Given the description of an element on the screen output the (x, y) to click on. 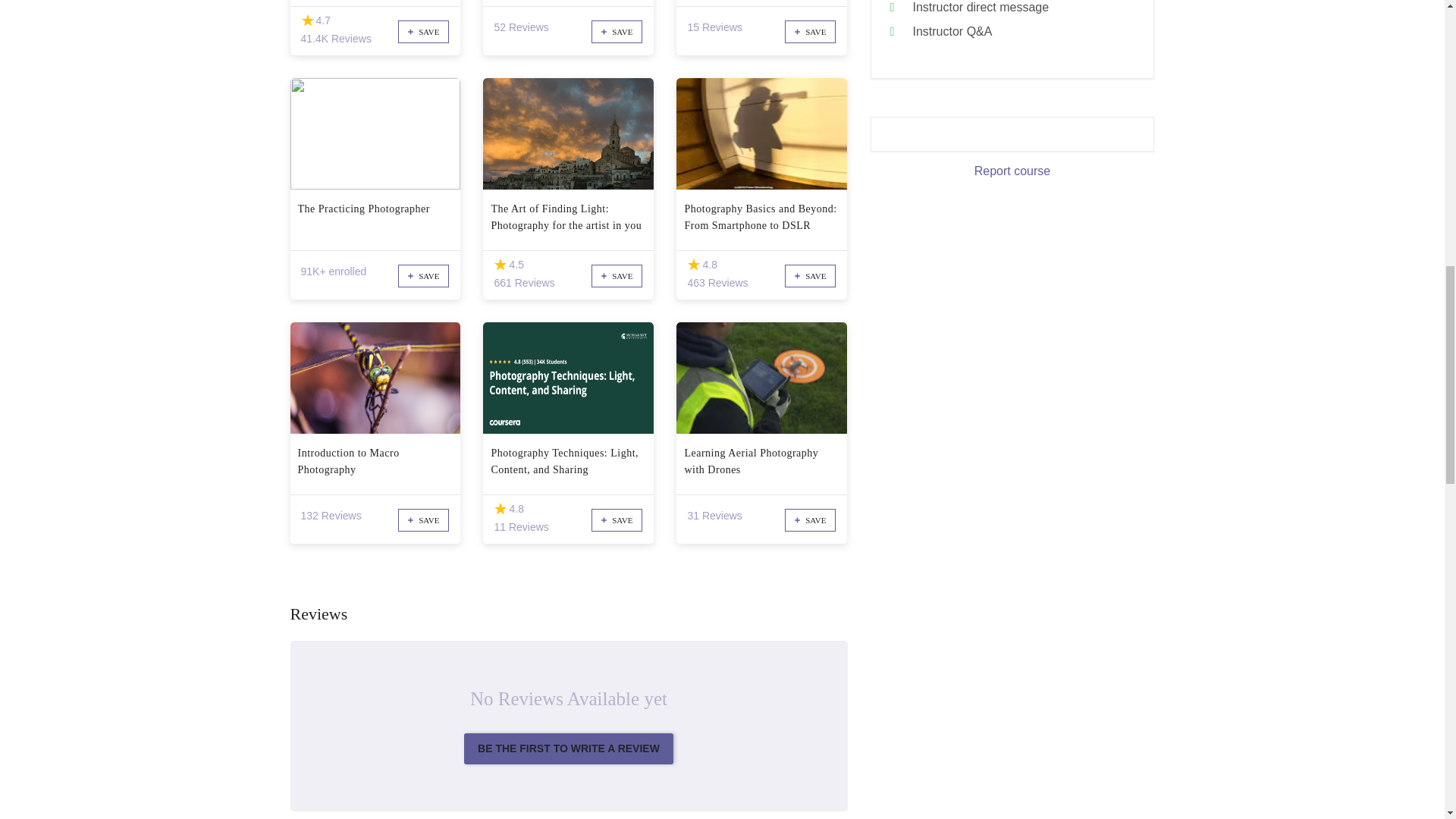
4.5 (499, 264)
4.8 (499, 508)
4.7 (306, 20)
4.8 (693, 264)
